Given the description of an element on the screen output the (x, y) to click on. 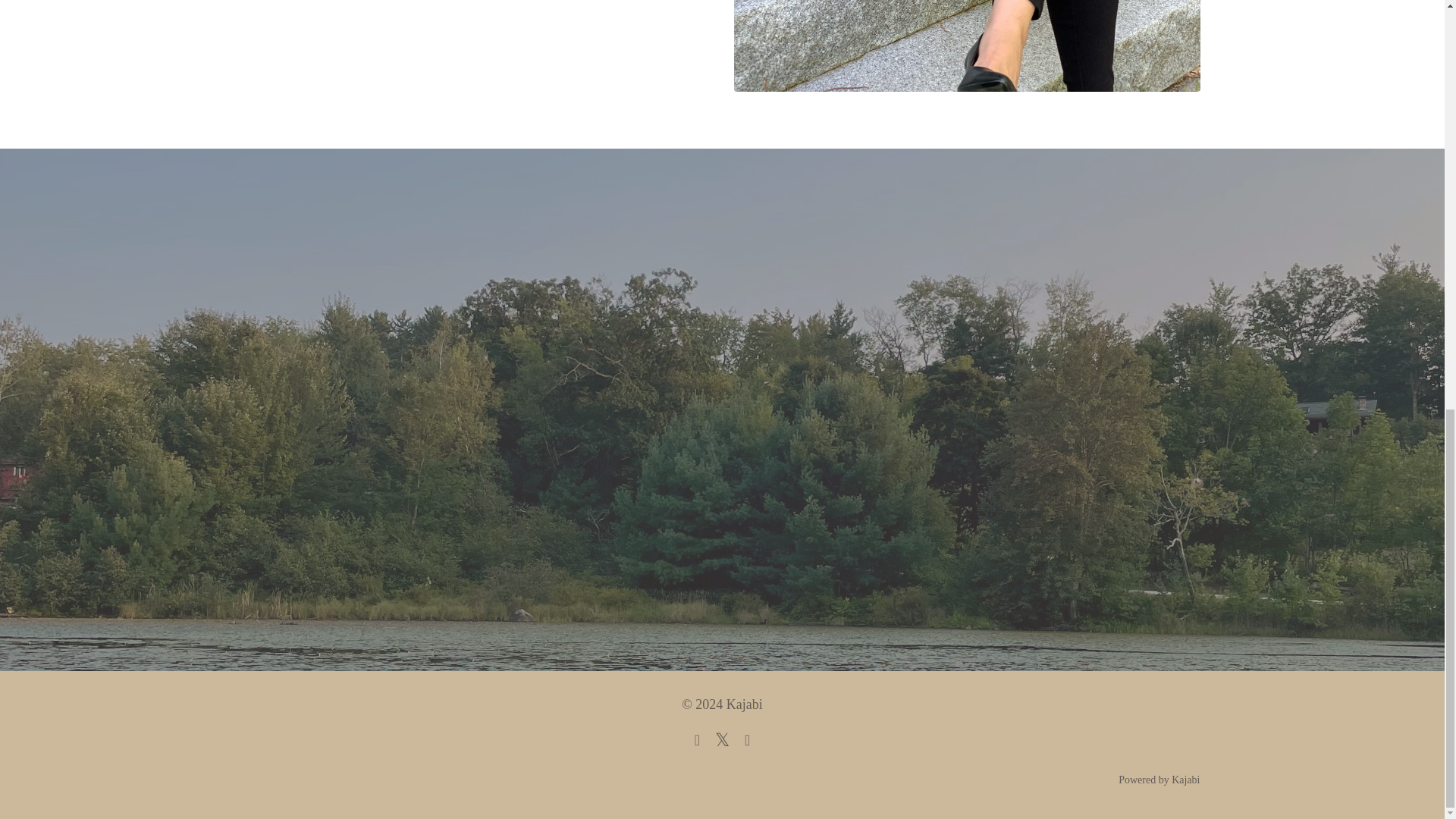
Powered by Kajabi (1158, 779)
